Given the description of an element on the screen output the (x, y) to click on. 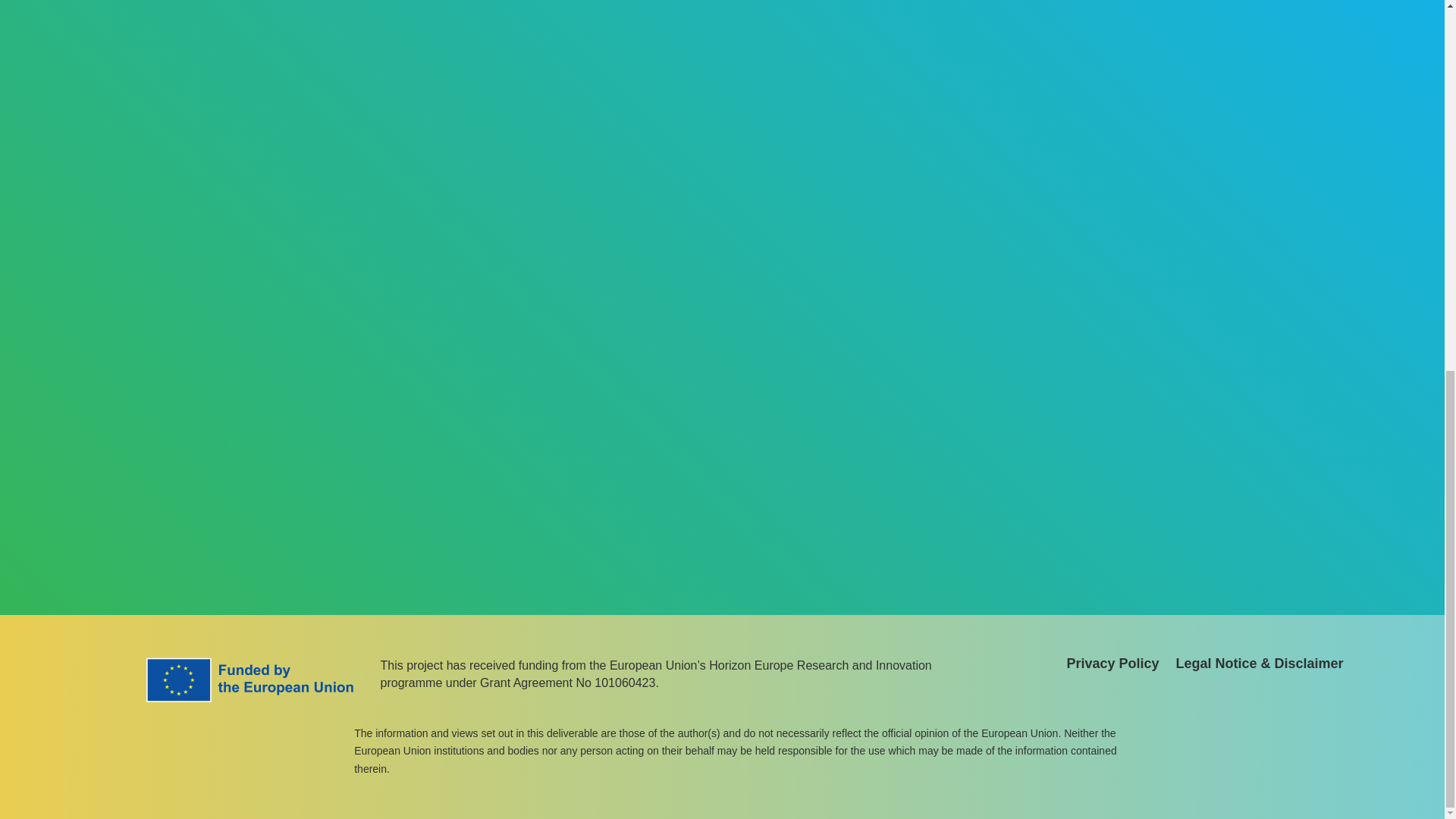
Privacy Policy (1111, 666)
